Given the description of an element on the screen output the (x, y) to click on. 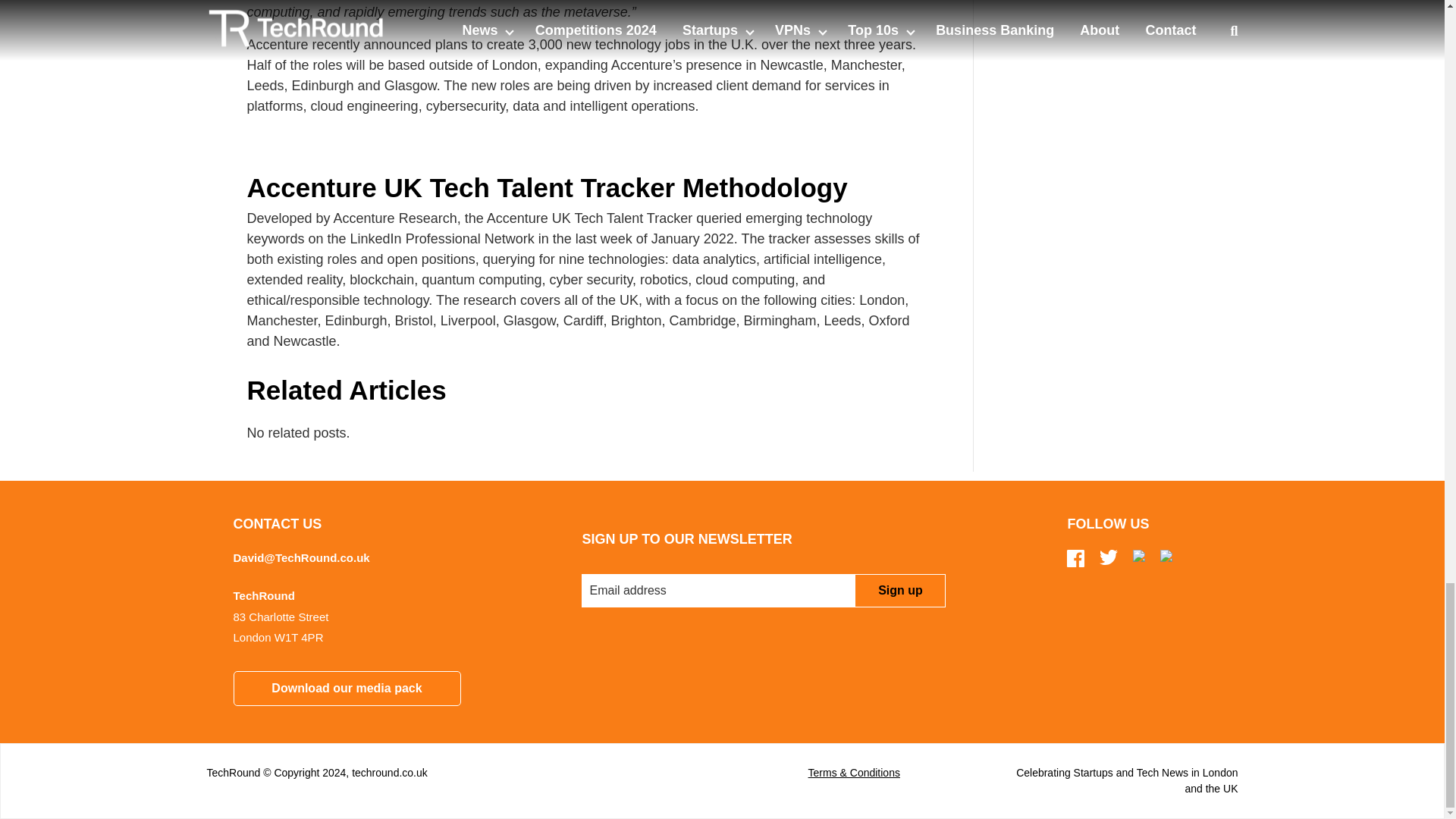
Sign up (899, 590)
